Given the description of an element on the screen output the (x, y) to click on. 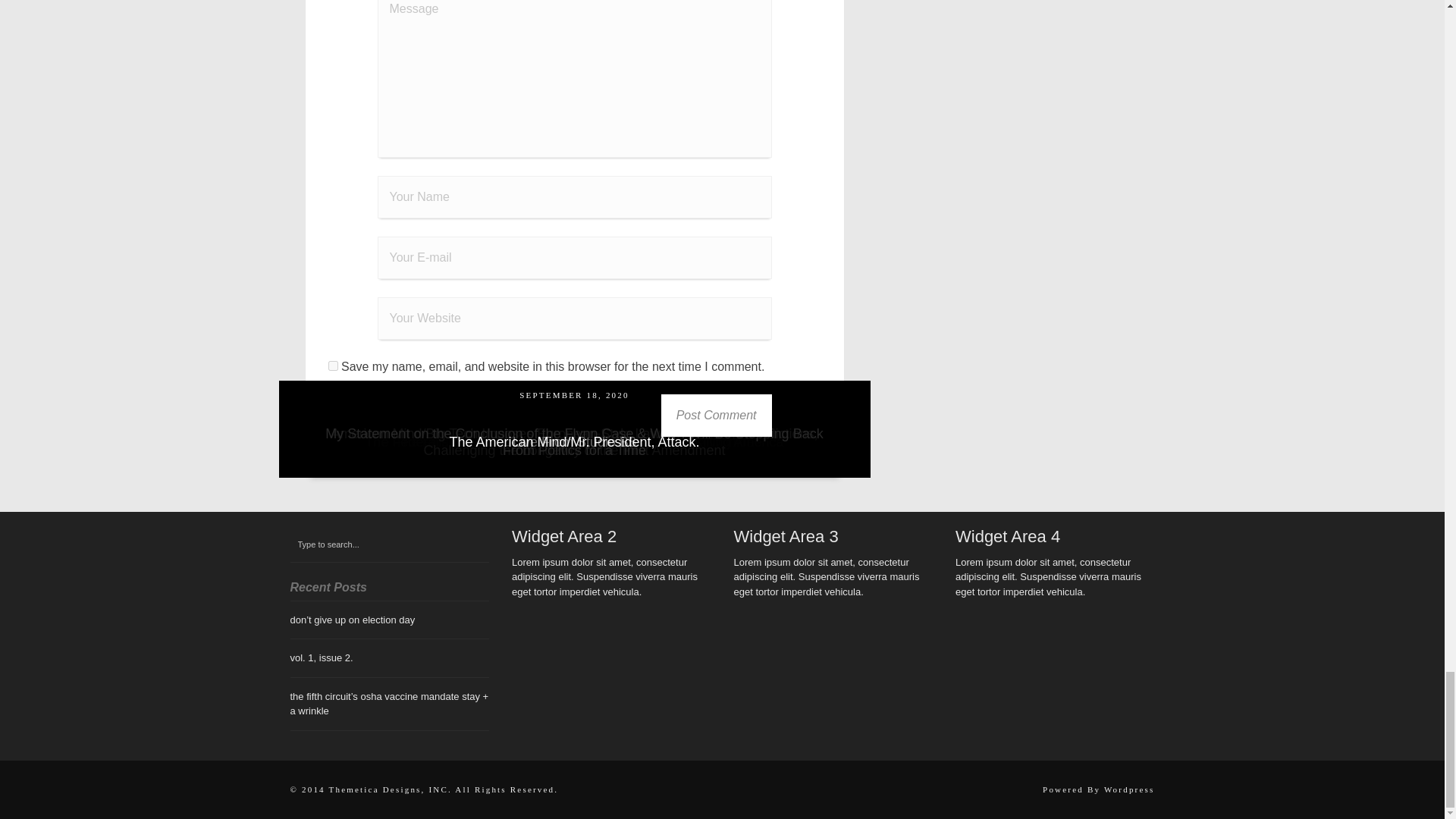
Vol. 1, Issue 2. (573, 441)
yes (332, 366)
Post Comment (716, 414)
Mandated Vaccine to Fly? (574, 441)
vol. 1, issue 2. (320, 657)
Live From Studio B6 (574, 441)
Post Comment (716, 414)
